Given the description of an element on the screen output the (x, y) to click on. 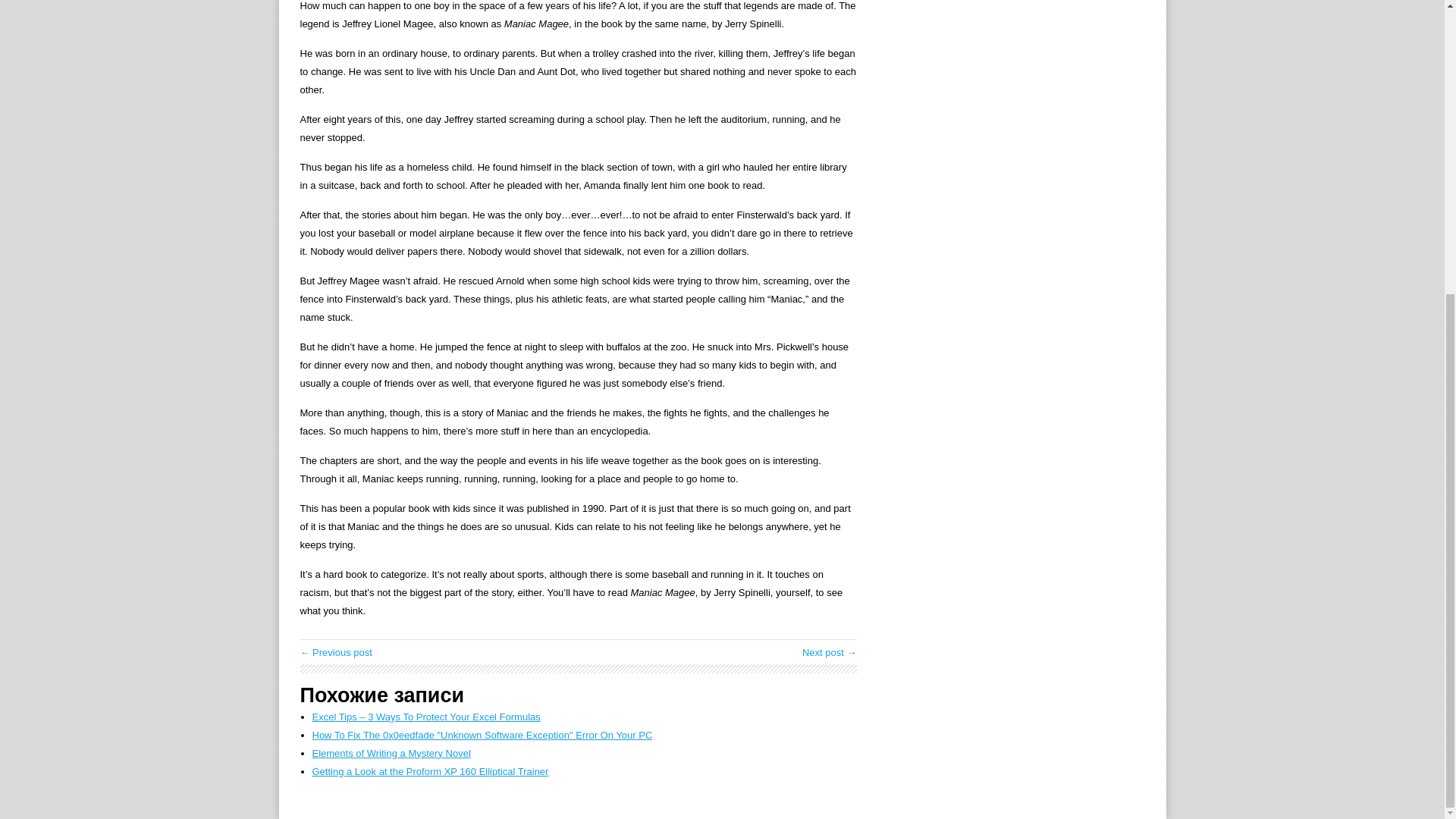
Driveway Pavers - Do it Yourself (829, 652)
Elements of Writing a Mystery Novel (391, 753)
Removing Stuck Screws With a Screw Extractor (335, 652)
Getting a Look at the Proform XP 160 Elliptical Trainer (430, 771)
